Given the description of an element on the screen output the (x, y) to click on. 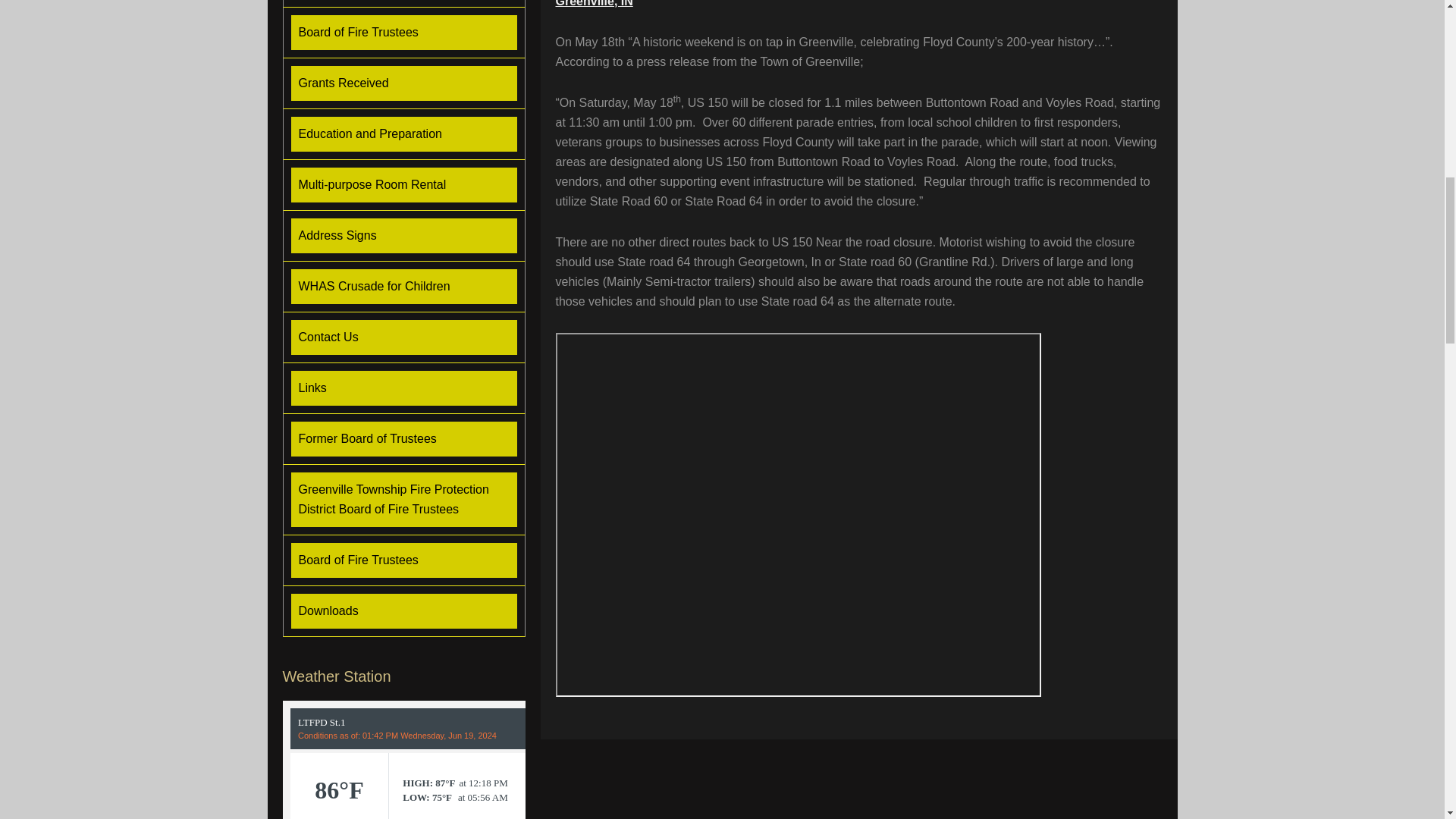
Board of Fire Trustees (403, 32)
Address Signs (403, 235)
WHAS Crusade for Children (403, 286)
Grants Received (403, 83)
Multi-purpose Room Rental (403, 184)
Education and Preparation (403, 134)
